Given the description of an element on the screen output the (x, y) to click on. 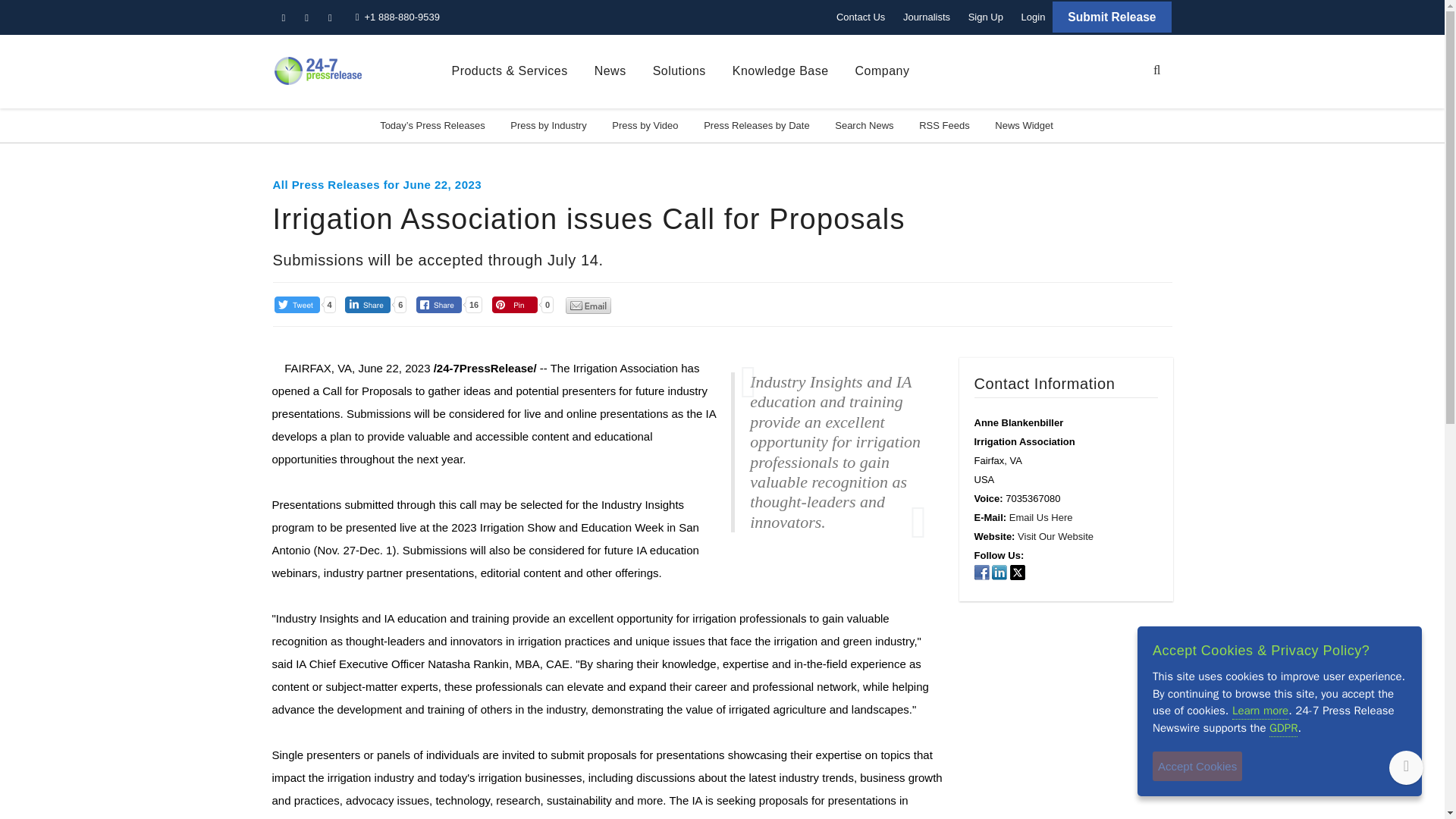
Knowledge Base (780, 71)
Login (1032, 16)
Company (882, 71)
Sign Up (985, 16)
Submit Release (1111, 16)
Contact Us (860, 16)
Solutions (679, 71)
Journalists (926, 16)
